Given the description of an element on the screen output the (x, y) to click on. 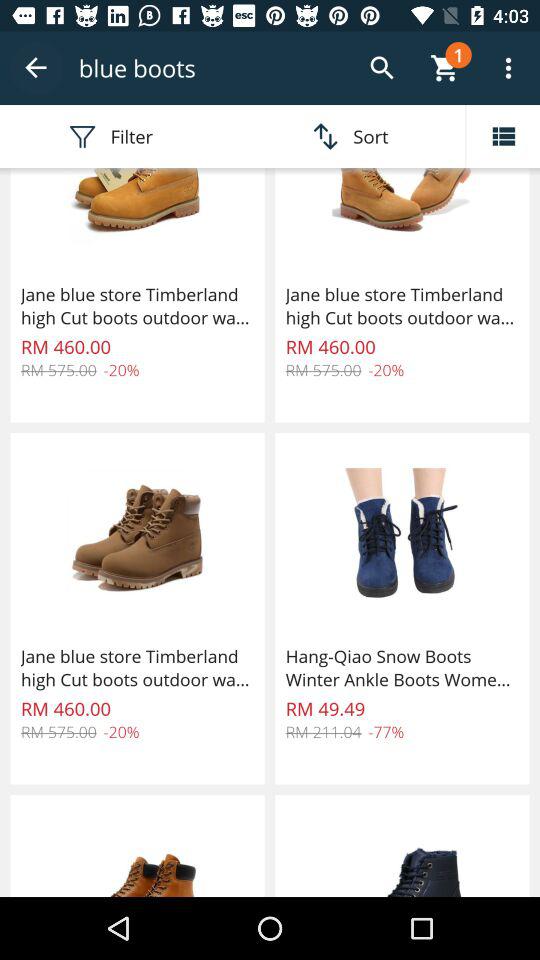
change display setting (503, 136)
